Given the description of an element on the screen output the (x, y) to click on. 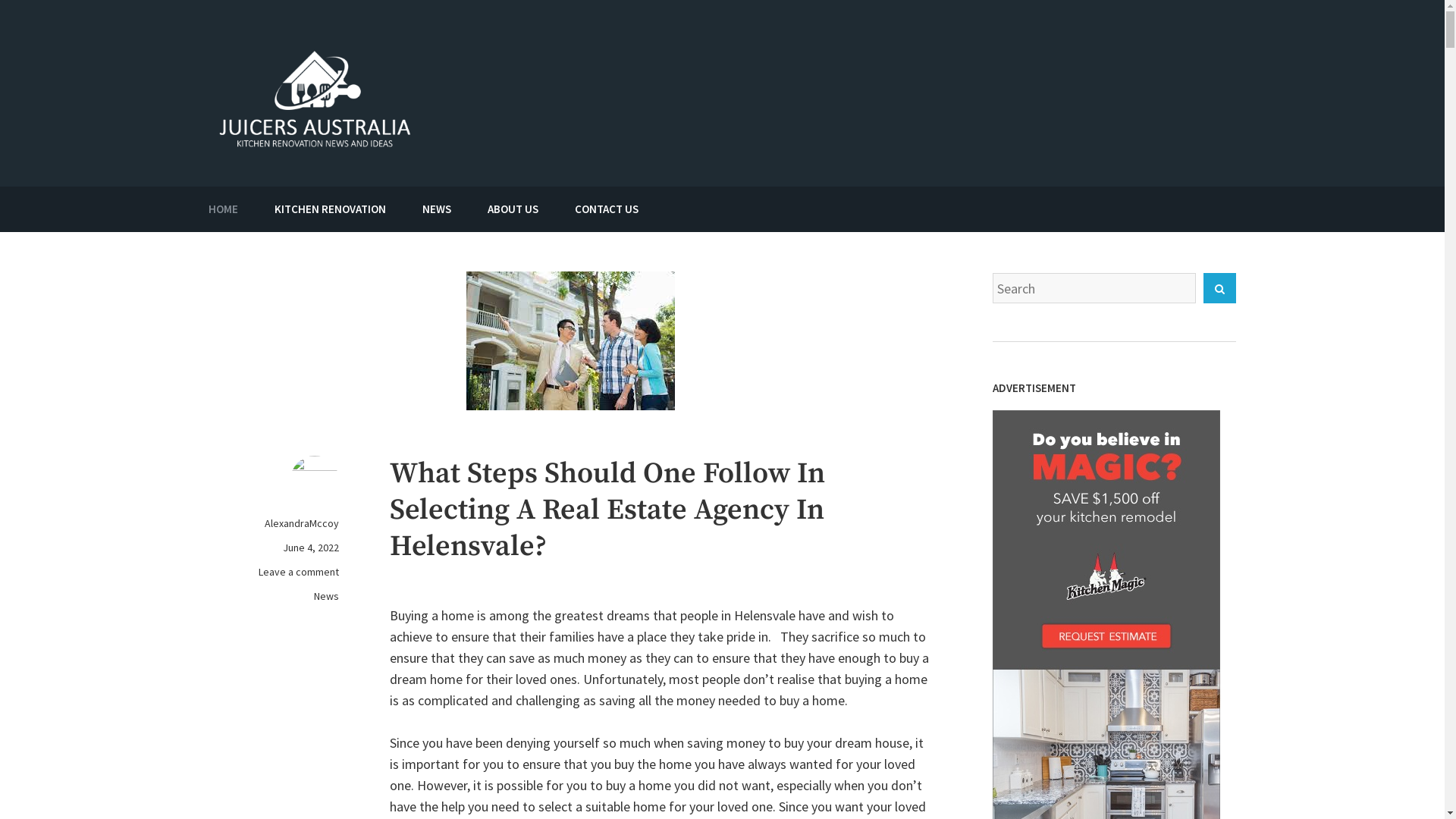
NEWS Element type: text (436, 209)
AlexandraMccoy Element type: text (301, 523)
ABOUT US Element type: text (512, 209)
News Element type: text (273, 595)
KITCHEN RENOVATION Element type: text (329, 209)
Search Element type: text (1219, 288)
HOME Element type: text (223, 209)
CONTACT US Element type: text (606, 209)
June 4, 2022 Element type: text (310, 547)
Juicers Australia Element type: text (555, 117)
